Given the description of an element on the screen output the (x, y) to click on. 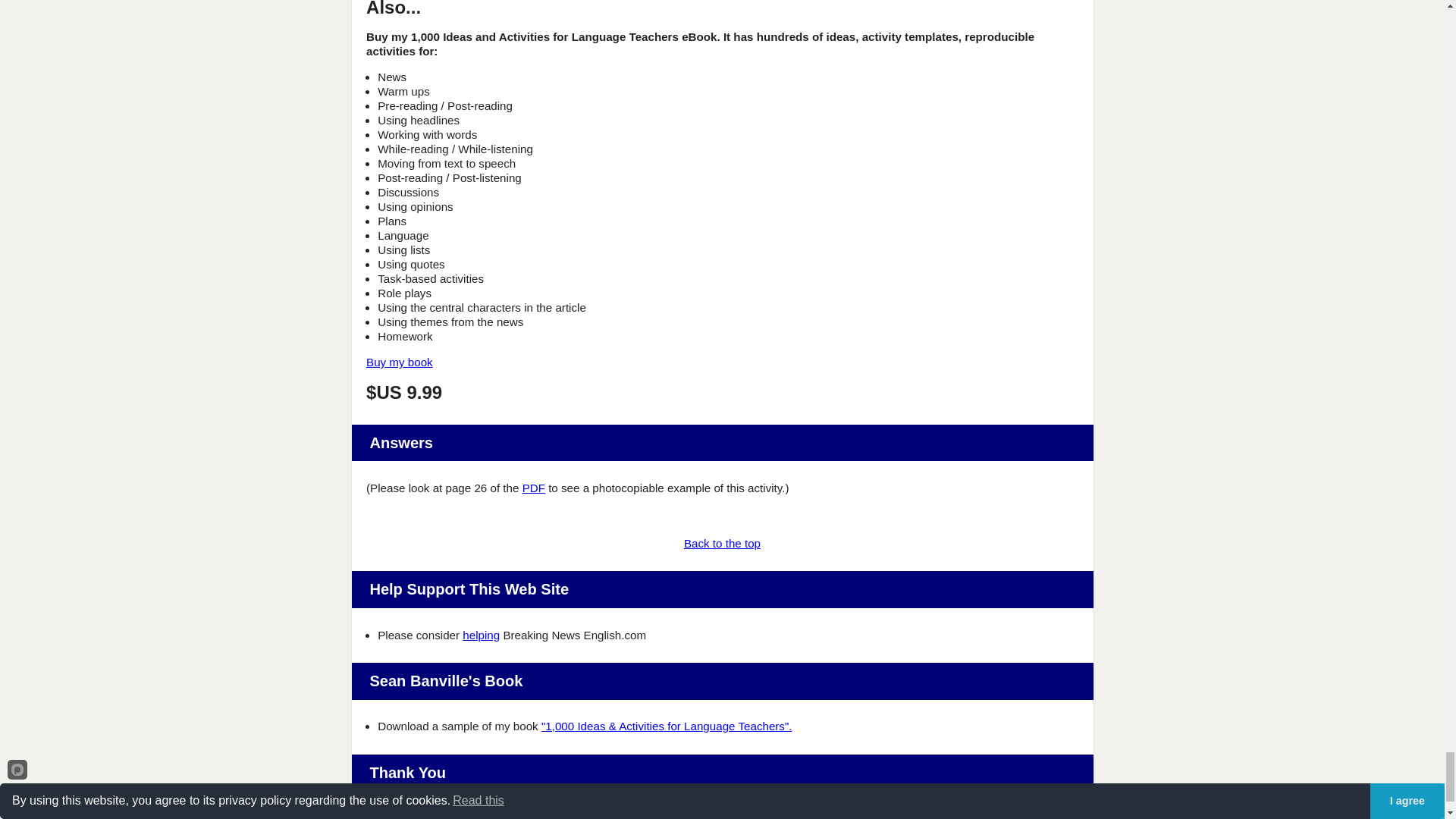
Buy my book (399, 361)
PDF (533, 487)
Go back to the top (722, 543)
